Given the description of an element on the screen output the (x, y) to click on. 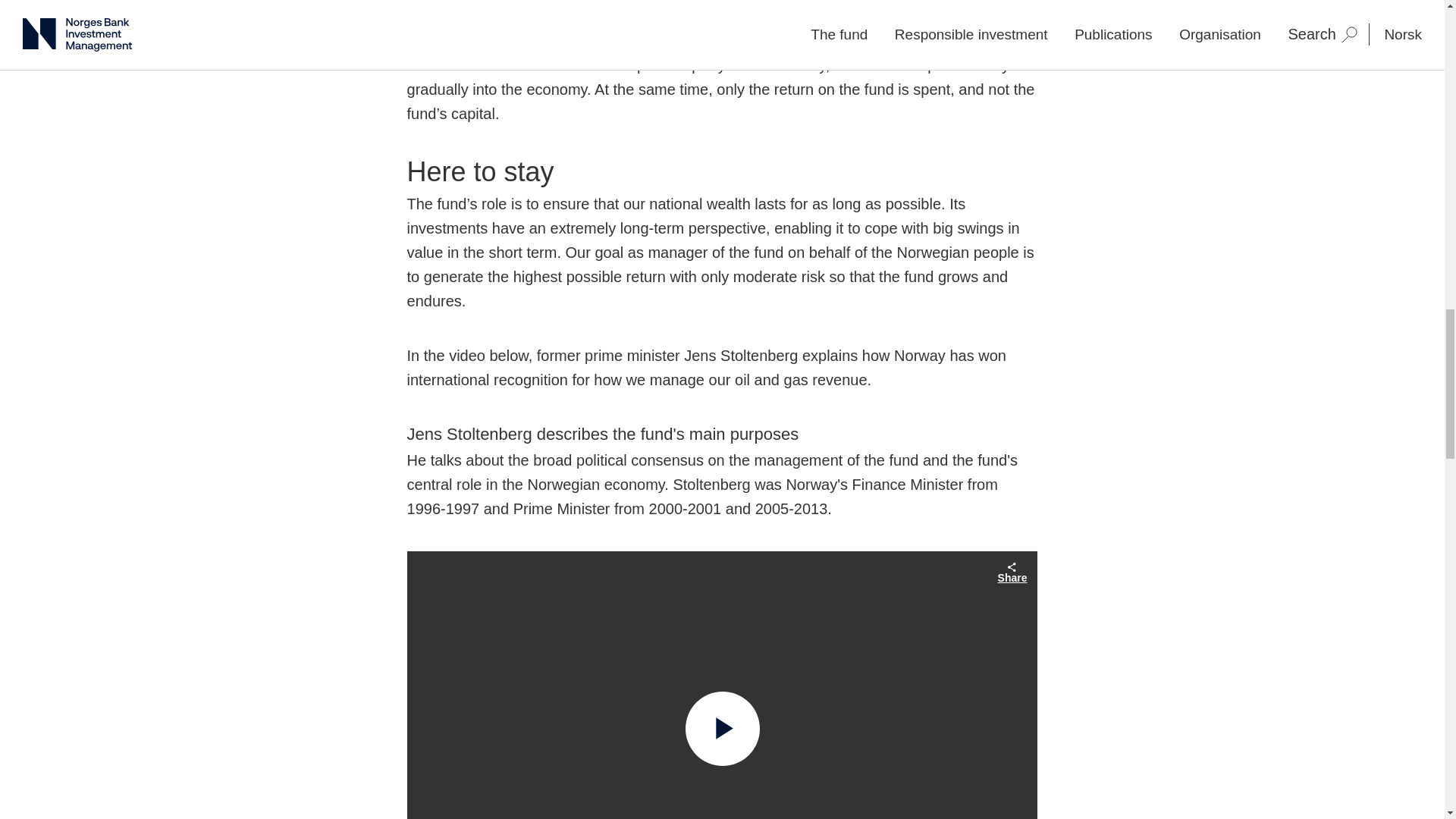
Share (1011, 572)
Share (1011, 572)
Play Video (722, 728)
fiscal rule (451, 17)
Play Video (722, 728)
